Given the description of an element on the screen output the (x, y) to click on. 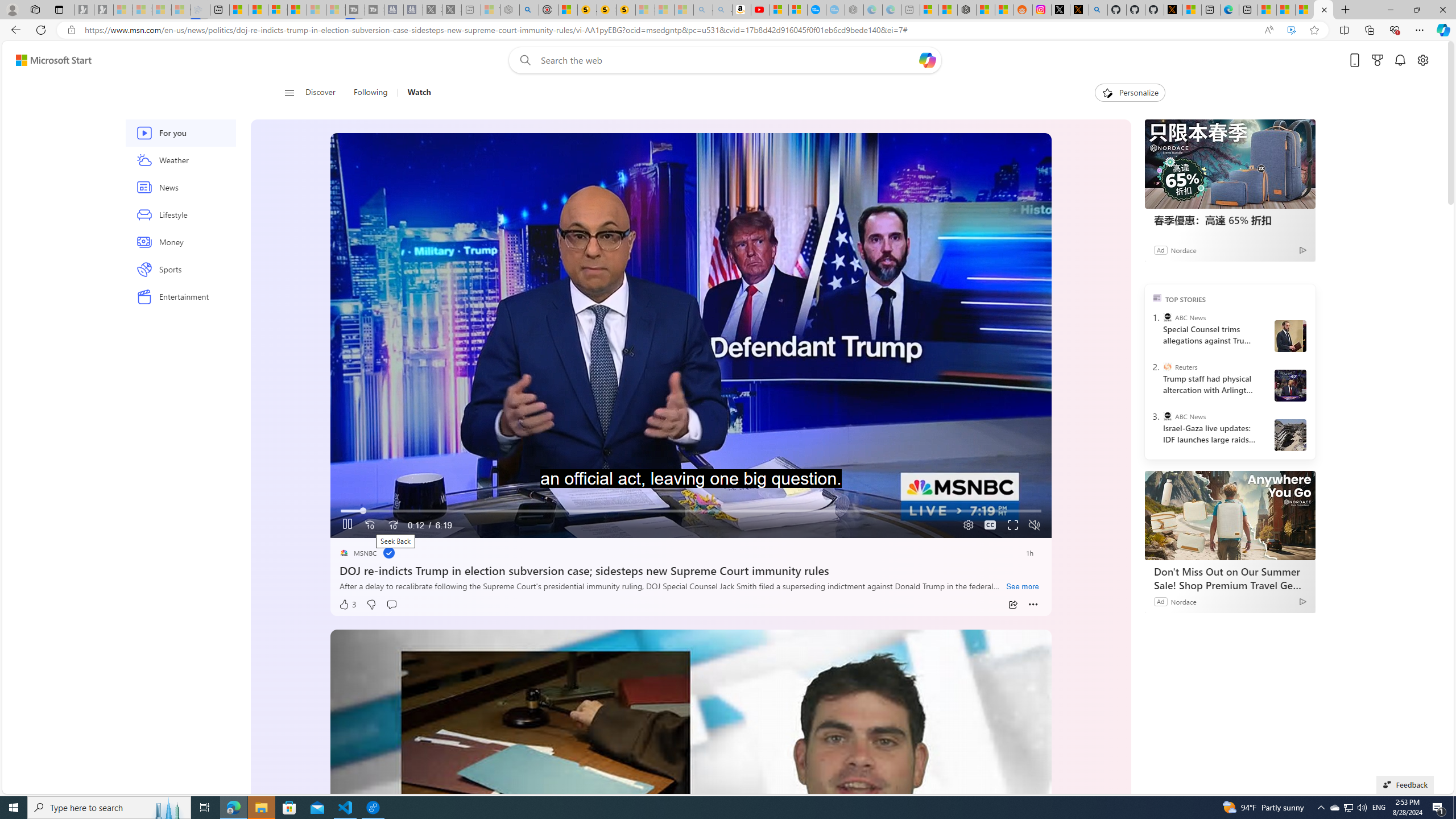
To get missing image descriptions, open the context menu. (1106, 92)
Log in to X / X (1060, 9)
Microsoft account | Microsoft Account Privacy Settings (929, 9)
Streaming Coverage | T3 - Sleeping (354, 9)
